Given the description of an element on the screen output the (x, y) to click on. 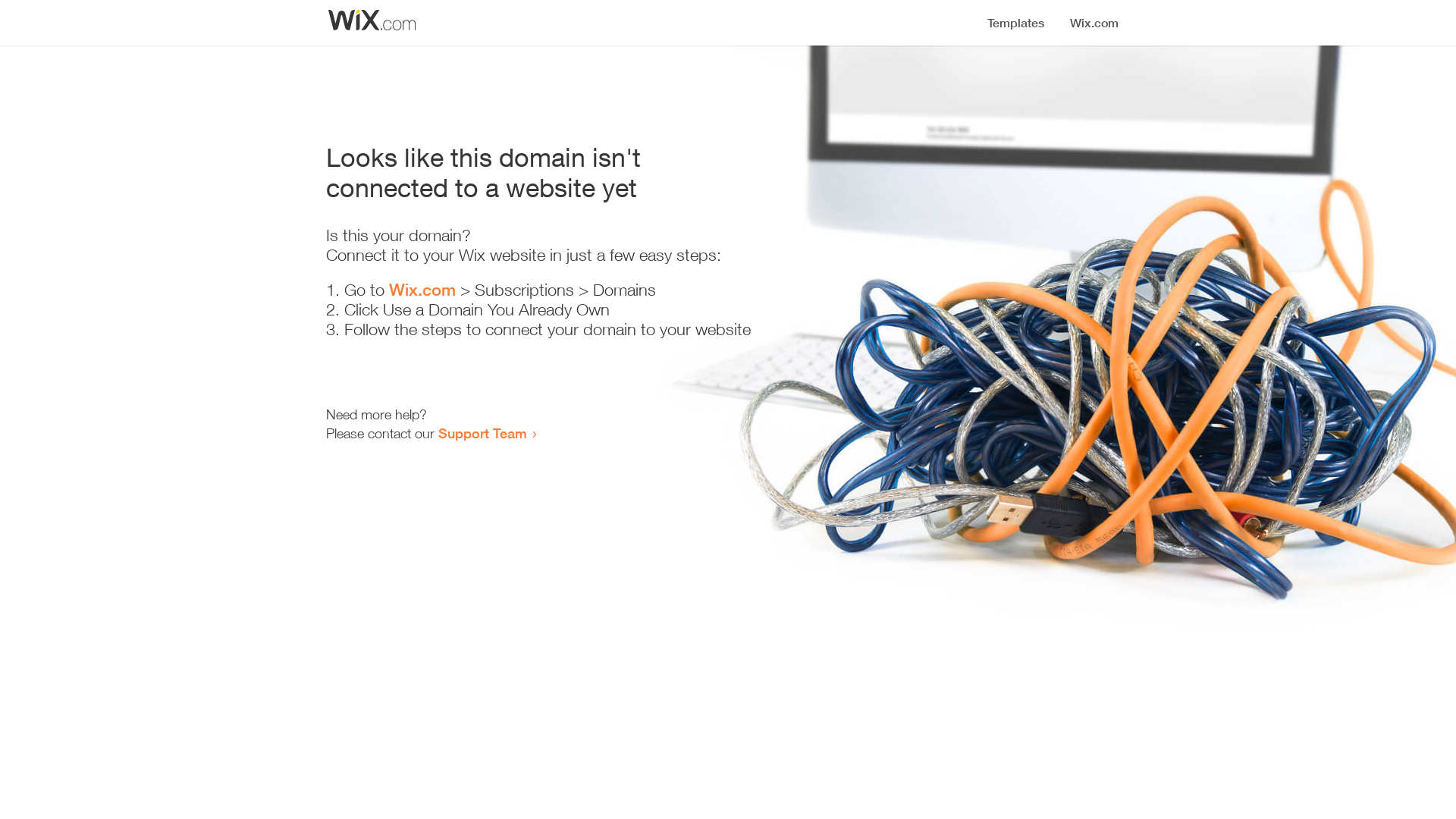
Wix.com Element type: text (422, 289)
Support Team Element type: text (482, 432)
